Given the description of an element on the screen output the (x, y) to click on. 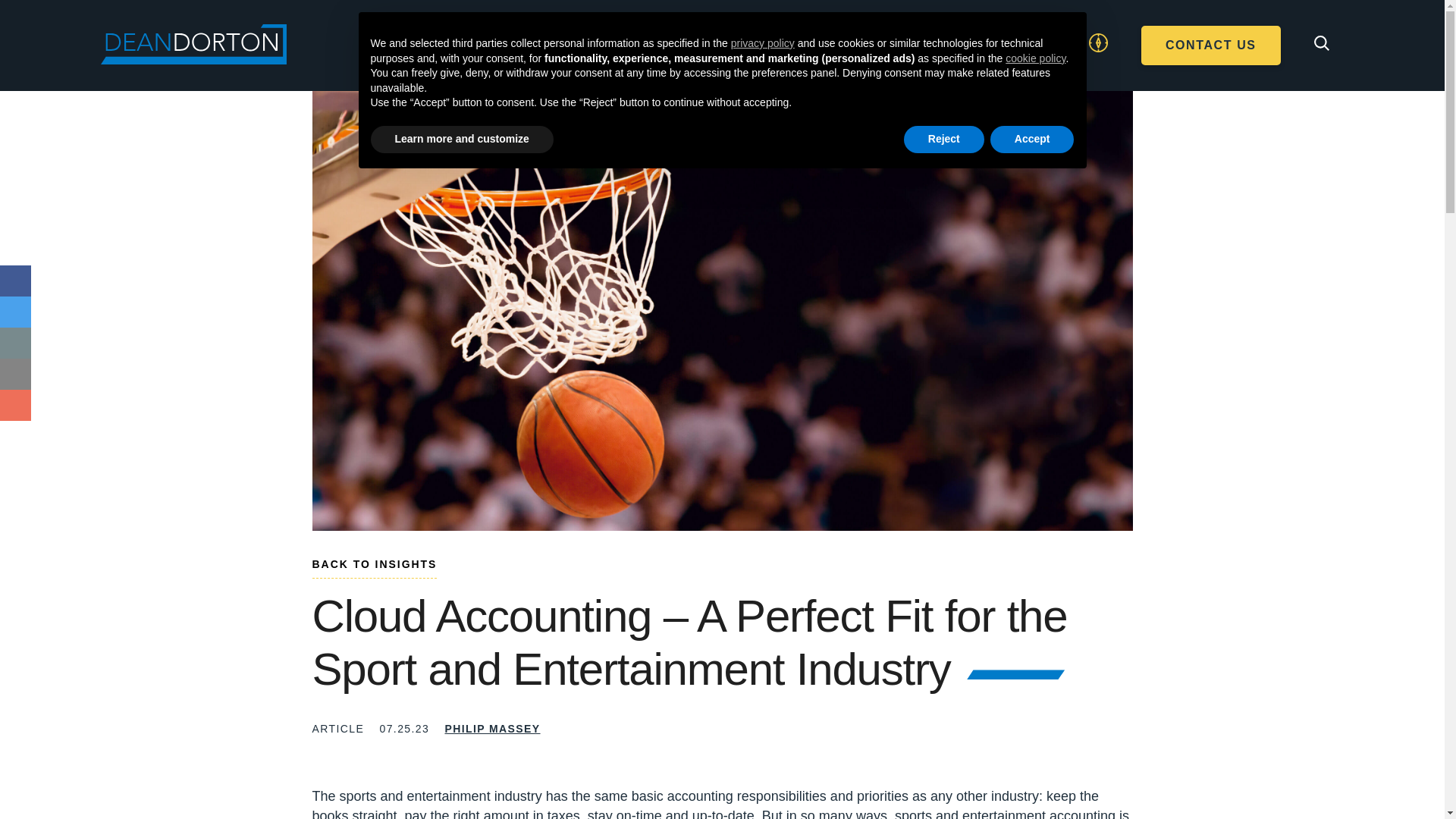
SERVICES (608, 57)
Go to Insights. (375, 567)
